Given the description of an element on the screen output the (x, y) to click on. 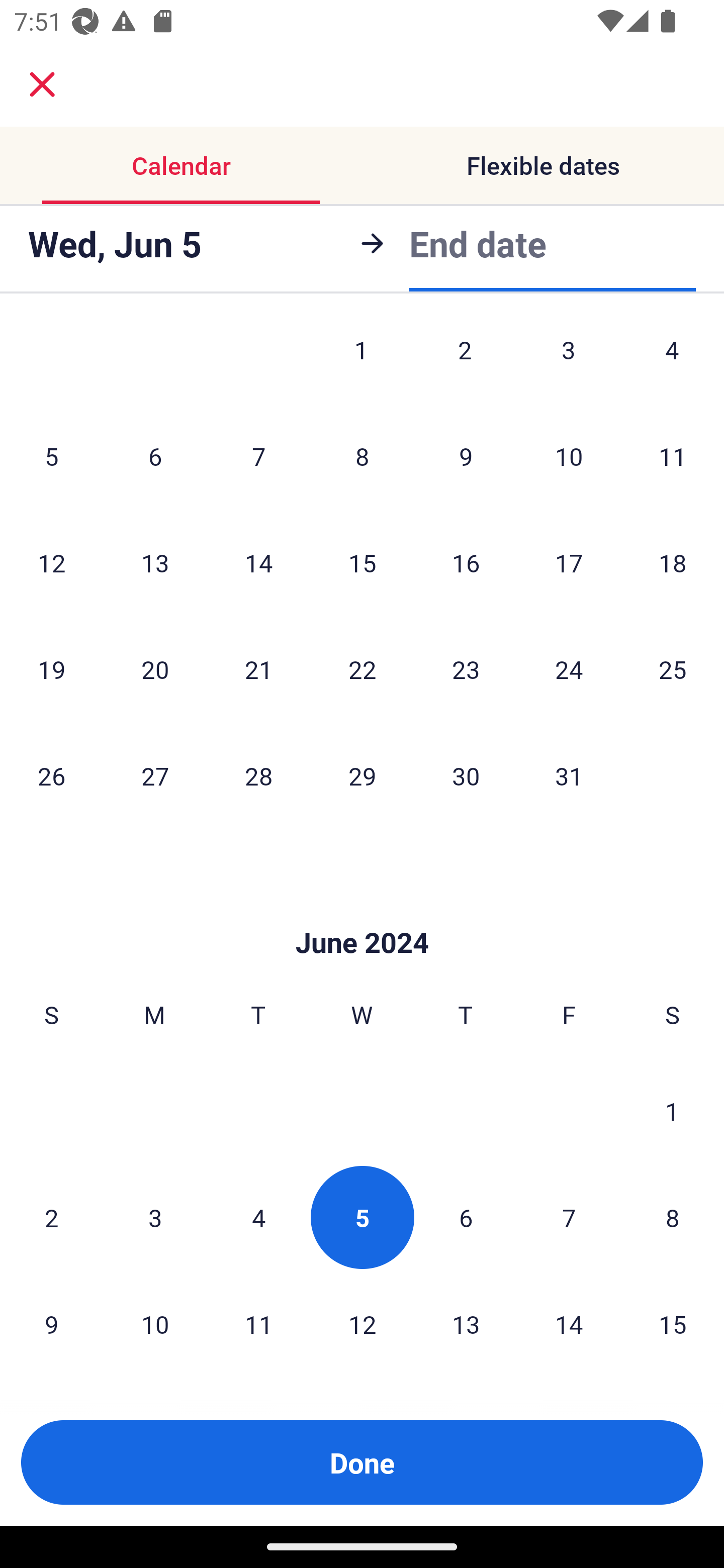
close. (42, 84)
Flexible dates (542, 164)
End date (477, 243)
1 Wednesday, May 1, 2024 (361, 361)
2 Thursday, May 2, 2024 (464, 361)
3 Friday, May 3, 2024 (568, 361)
4 Saturday, May 4, 2024 (672, 361)
5 Sunday, May 5, 2024 (51, 456)
6 Monday, May 6, 2024 (155, 456)
7 Tuesday, May 7, 2024 (258, 456)
8 Wednesday, May 8, 2024 (362, 456)
9 Thursday, May 9, 2024 (465, 456)
10 Friday, May 10, 2024 (569, 456)
11 Saturday, May 11, 2024 (672, 456)
12 Sunday, May 12, 2024 (51, 562)
13 Monday, May 13, 2024 (155, 562)
14 Tuesday, May 14, 2024 (258, 562)
15 Wednesday, May 15, 2024 (362, 562)
16 Thursday, May 16, 2024 (465, 562)
17 Friday, May 17, 2024 (569, 562)
18 Saturday, May 18, 2024 (672, 562)
19 Sunday, May 19, 2024 (51, 669)
20 Monday, May 20, 2024 (155, 669)
21 Tuesday, May 21, 2024 (258, 669)
22 Wednesday, May 22, 2024 (362, 669)
23 Thursday, May 23, 2024 (465, 669)
24 Friday, May 24, 2024 (569, 669)
25 Saturday, May 25, 2024 (672, 669)
26 Sunday, May 26, 2024 (51, 775)
27 Monday, May 27, 2024 (155, 775)
28 Tuesday, May 28, 2024 (258, 775)
29 Wednesday, May 29, 2024 (362, 775)
30 Thursday, May 30, 2024 (465, 775)
31 Friday, May 31, 2024 (569, 775)
Skip to Done (362, 912)
1 Saturday, June 1, 2024 (672, 1110)
2 Sunday, June 2, 2024 (51, 1217)
3 Monday, June 3, 2024 (155, 1217)
4 Tuesday, June 4, 2024 (258, 1217)
6 Thursday, June 6, 2024 (465, 1217)
7 Friday, June 7, 2024 (569, 1217)
8 Saturday, June 8, 2024 (672, 1217)
9 Sunday, June 9, 2024 (51, 1324)
10 Monday, June 10, 2024 (155, 1324)
11 Tuesday, June 11, 2024 (258, 1324)
12 Wednesday, June 12, 2024 (362, 1324)
13 Thursday, June 13, 2024 (465, 1324)
14 Friday, June 14, 2024 (569, 1324)
15 Saturday, June 15, 2024 (672, 1324)
Done (361, 1462)
